Given the description of an element on the screen output the (x, y) to click on. 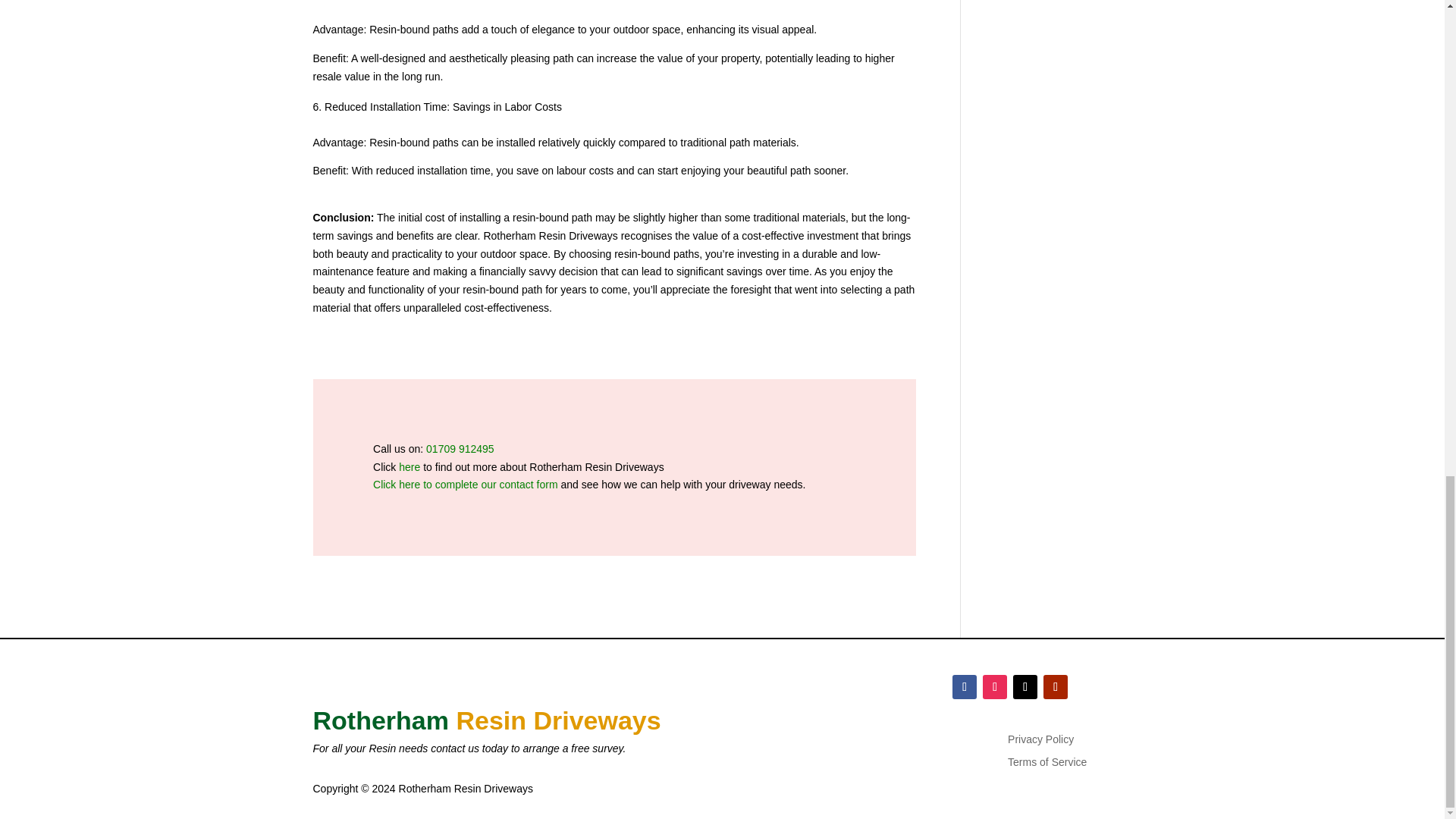
Privacy Policy (1040, 742)
Follow on Youtube (1055, 686)
Follow on X (1024, 686)
Follow on Facebook (964, 686)
Click here to complete our contact form (464, 484)
01709 912495 (460, 449)
here (409, 467)
Follow on Instagram (994, 686)
Terms of Service (1046, 764)
